Given the description of an element on the screen output the (x, y) to click on. 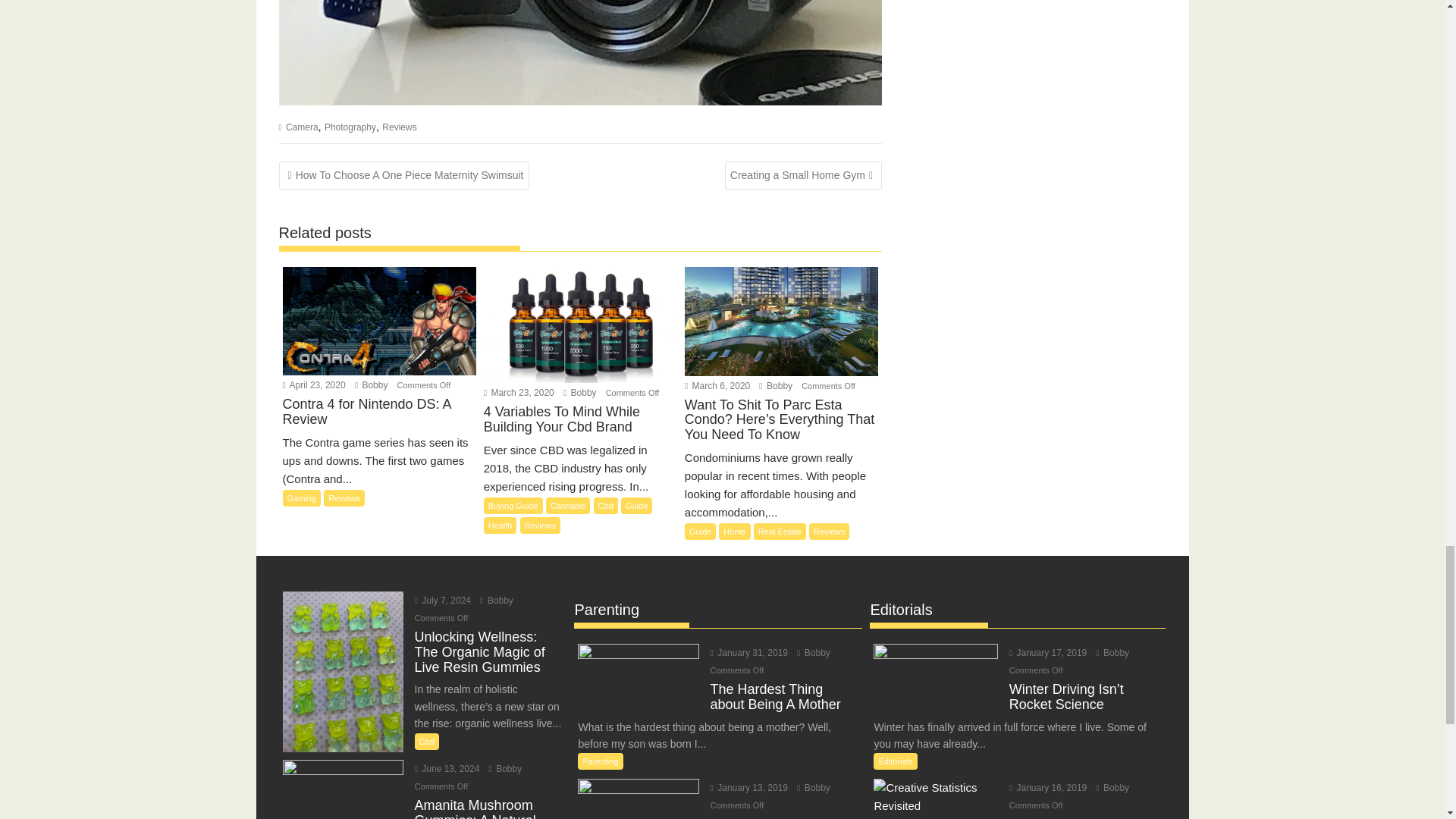
April 23, 2020 (313, 385)
Bobby (371, 385)
Bobby (812, 652)
Bobby (496, 600)
Bobby (504, 768)
Photography (349, 127)
Creating a Small Home Gym (803, 175)
Bobby (579, 392)
Camera (301, 127)
Reviews (398, 127)
Bobby (775, 385)
How To Choose A One Piece Maternity Swimsuit (404, 175)
